Given the description of an element on the screen output the (x, y) to click on. 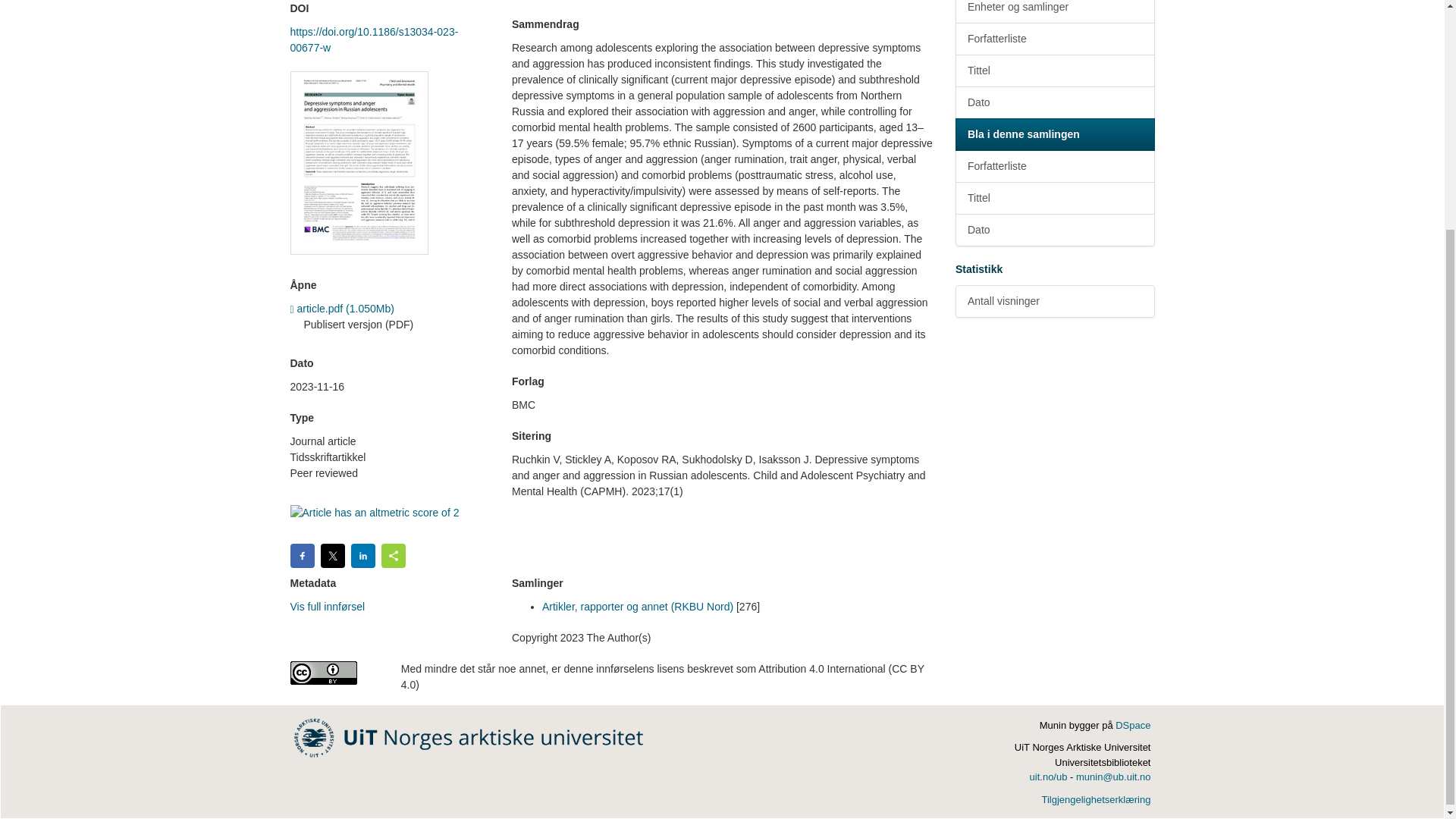
Tittel (1054, 70)
Forfatterliste (1054, 38)
Enheter og samlinger (1054, 11)
UiT (468, 736)
